Given the description of an element on the screen output the (x, y) to click on. 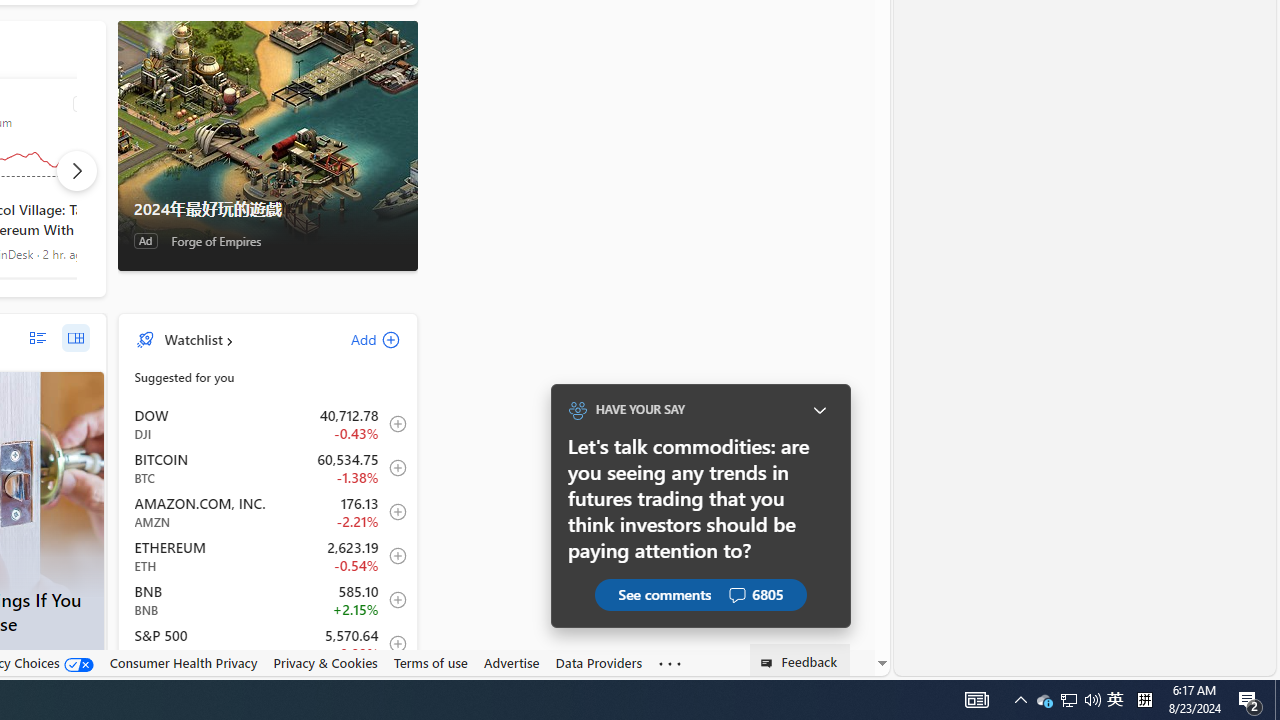
Privacy & Cookies (324, 663)
Data Providers (598, 663)
BTC Bitcoin decrease 60,534.75 -837.20 -1.38% item1 (267, 467)
ETH Ethereum decrease 2,623.19 -14.14 -0.54% item3 (267, 556)
Add to Watchlist (392, 643)
Class: feedback_link_icon-DS-EntryPoint1-1 (770, 663)
DJI DOW decrease 40,712.78 -177.71 -0.43% item0 (267, 423)
Watchlist (192, 339)
